Given the description of an element on the screen output the (x, y) to click on. 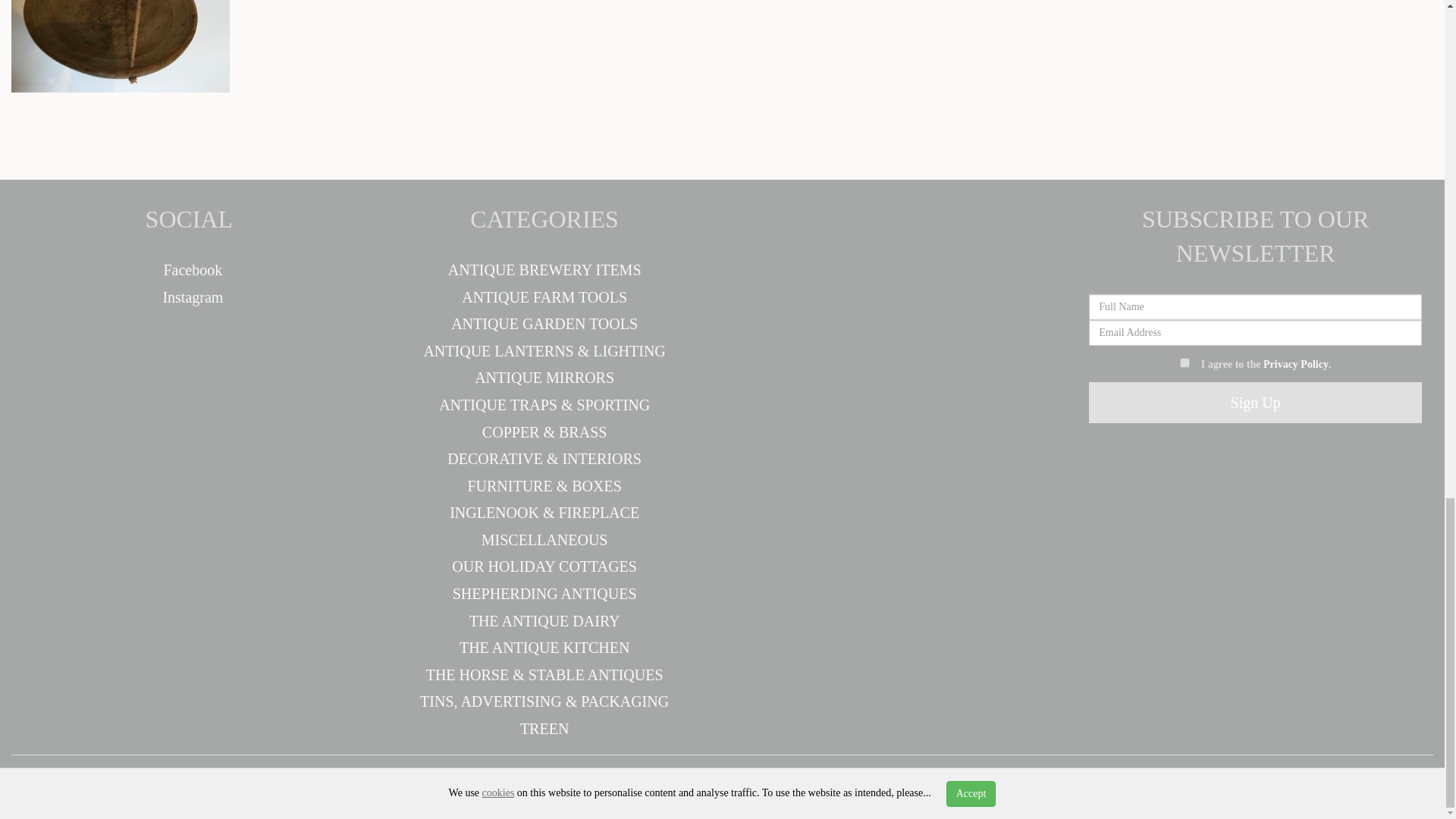
OUR HOLIDAY COTTAGES (544, 565)
ANTIQUE GARDEN TOOLS (544, 323)
TREEN (544, 728)
  Instagram (188, 297)
SHEPHERDING ANTIQUES (544, 593)
ph9 web design (414, 784)
ANTIQUE BREWERY ITEMS (545, 269)
THE ANTIQUE DAIRY (544, 620)
Sign Up (1255, 403)
MISCELLANEOUS (544, 539)
THE ANTIQUE KITCHEN (544, 647)
on (1184, 362)
  Facebook (188, 269)
Antiques website design (269, 784)
Privacy Policy (1295, 364)
